Given the description of an element on the screen output the (x, y) to click on. 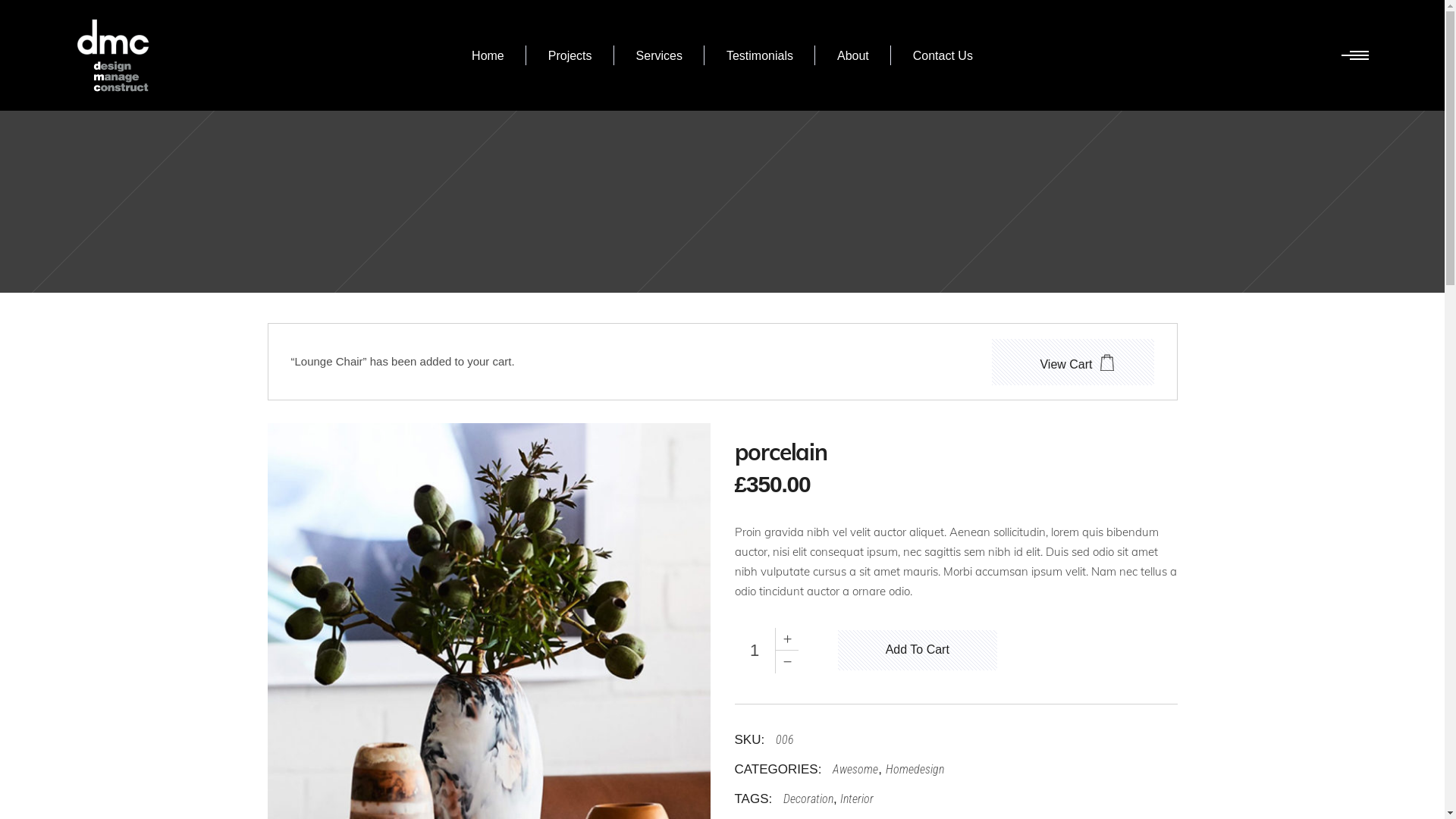
About Element type: text (853, 55)
Decoration Element type: text (804, 798)
Home Element type: text (487, 55)
Projects Element type: text (570, 55)
Interior Element type: text (856, 798)
Testimonials Element type: text (759, 55)
Awesome Element type: text (851, 769)
Contact Us Element type: text (942, 55)
Homedesign Element type: text (914, 769)
Qty Element type: hover (754, 650)
Services Element type: text (659, 55)
View Cart Element type: text (1072, 361)
Add To Cart Element type: text (917, 650)
